Given the description of an element on the screen output the (x, y) to click on. 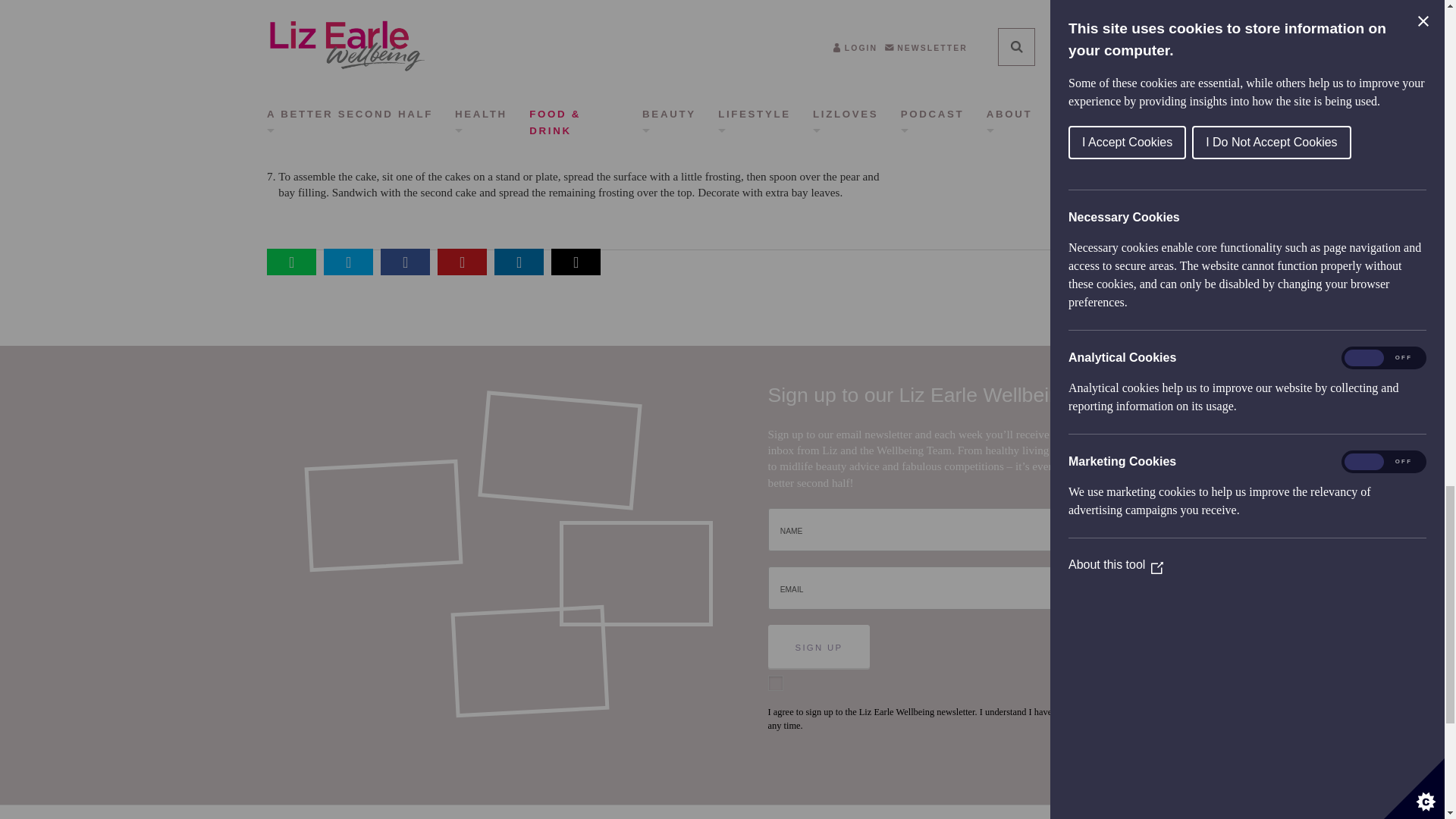
Share by Email (575, 261)
Share on Linkedin (519, 261)
Share on Twitter (347, 261)
true (776, 683)
Sign up (819, 646)
Share on whatsapp (290, 261)
Share on Facebook (404, 261)
